Given the description of an element on the screen output the (x, y) to click on. 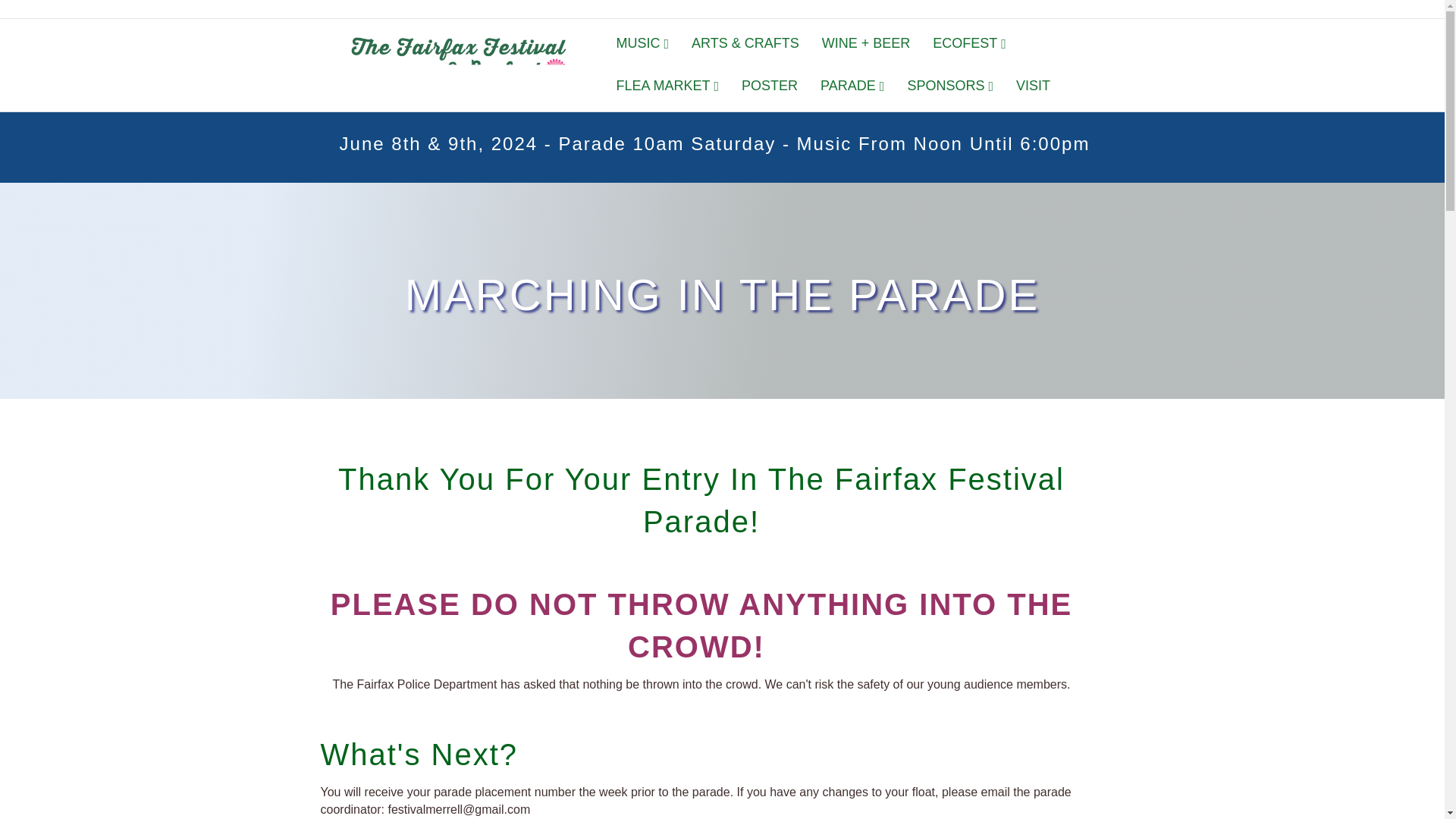
SPONSORS (949, 86)
ECOFEST (969, 43)
POSTER (769, 86)
PARADE (852, 86)
VISIT (1032, 86)
FLEA MARKET (667, 86)
MUSIC (641, 43)
